Given the description of an element on the screen output the (x, y) to click on. 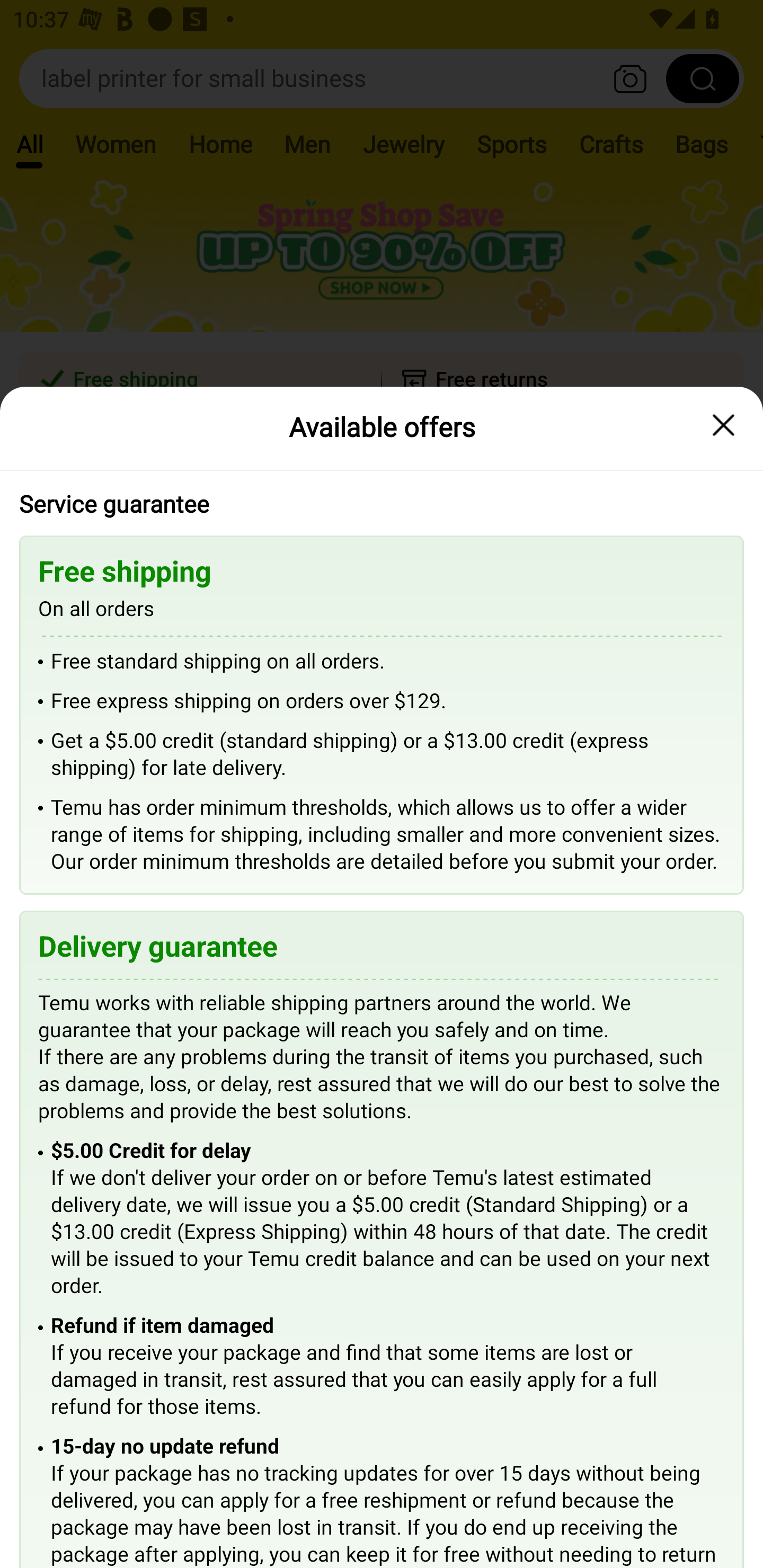
Lightning deals (379, 524)
